Given the description of an element on the screen output the (x, y) to click on. 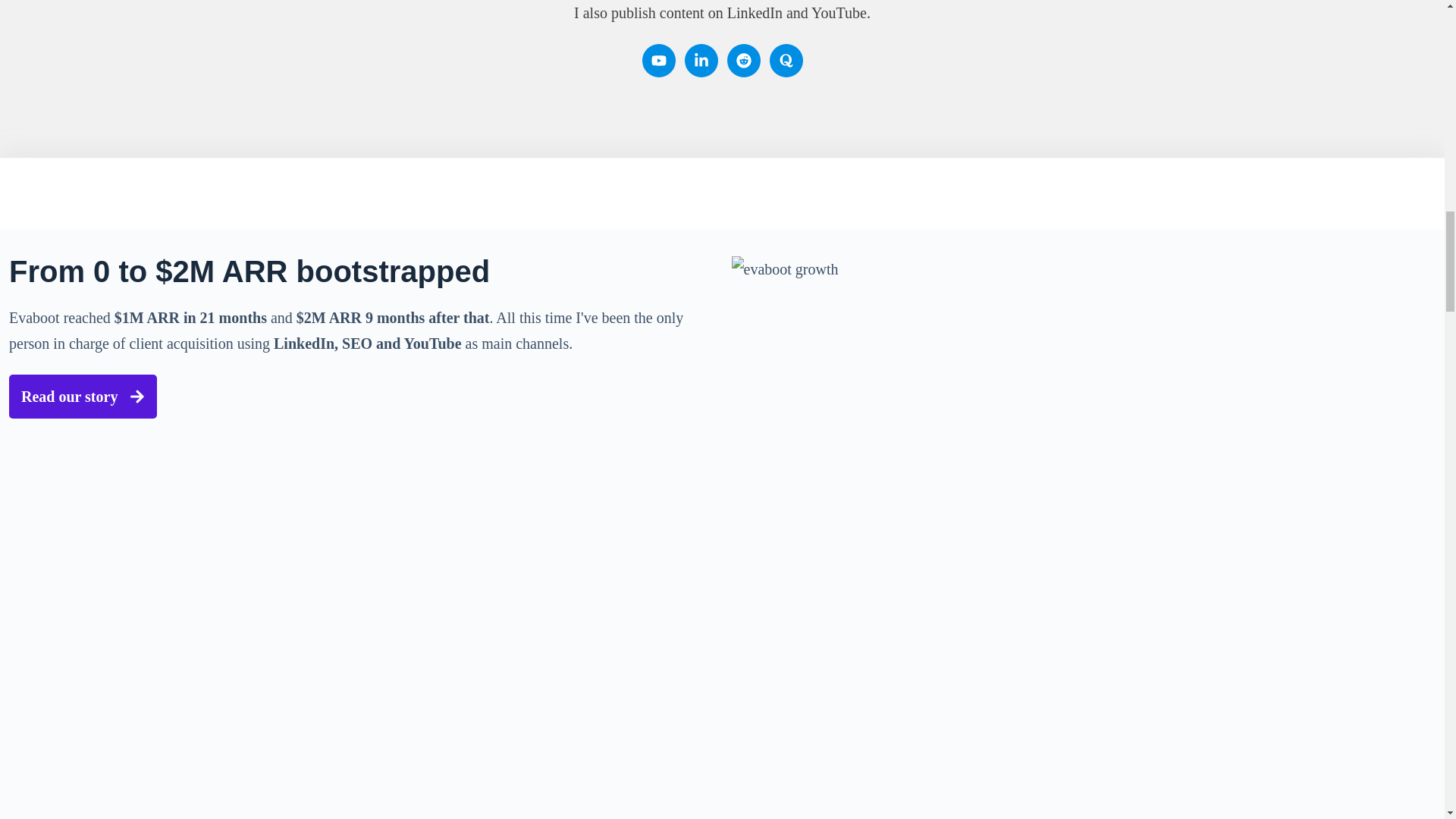
Read our story (82, 396)
